Given the description of an element on the screen output the (x, y) to click on. 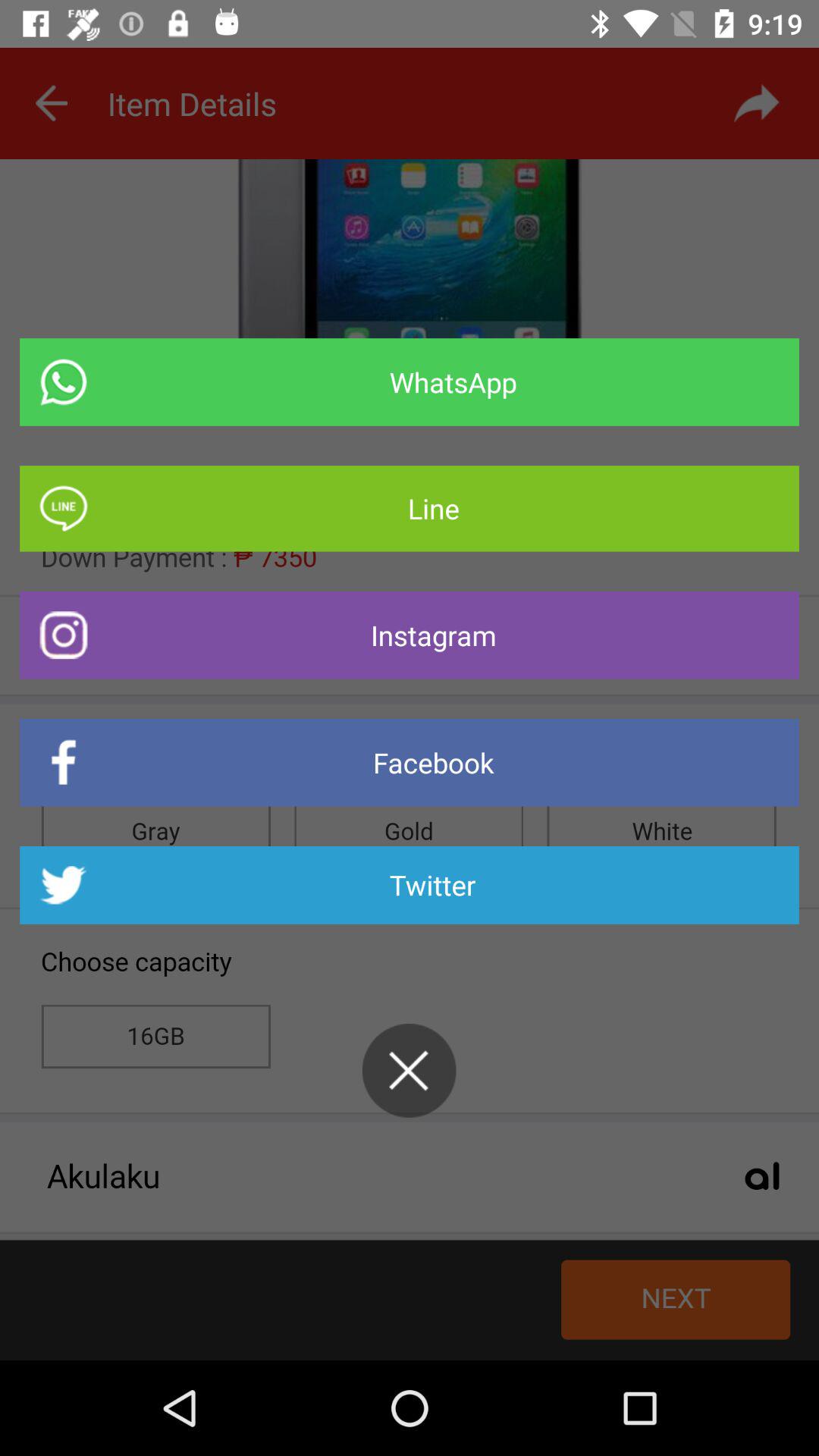
jump until the twitter item (409, 885)
